Given the description of an element on the screen output the (x, y) to click on. 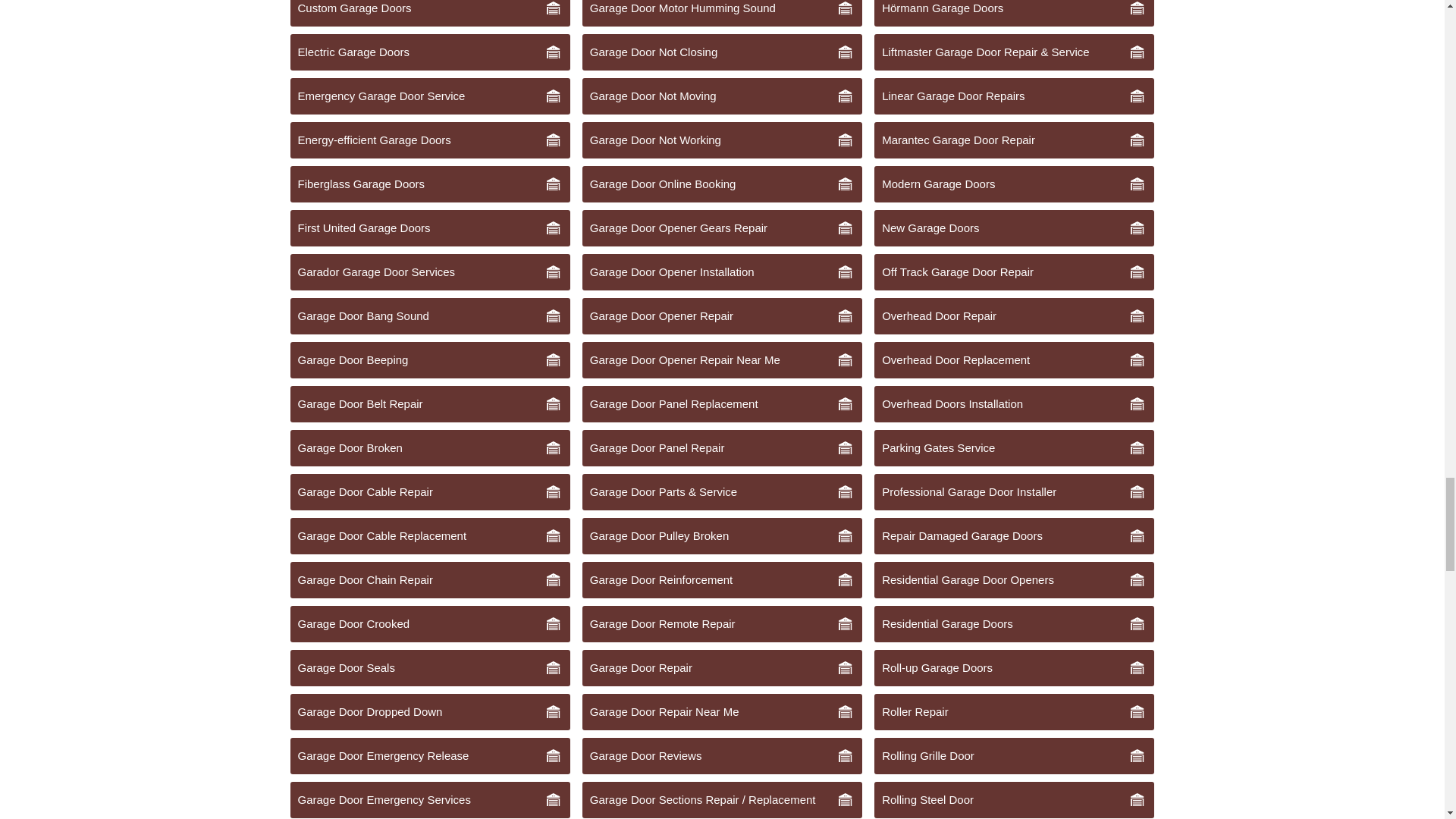
Custom Garage Doors (429, 13)
Emergency Garage Door Service (429, 95)
Energy-efficient Garage Doors (429, 140)
Fiberglass Garage Doors (429, 184)
Electric Garage Doors (429, 52)
